Given the description of an element on the screen output the (x, y) to click on. 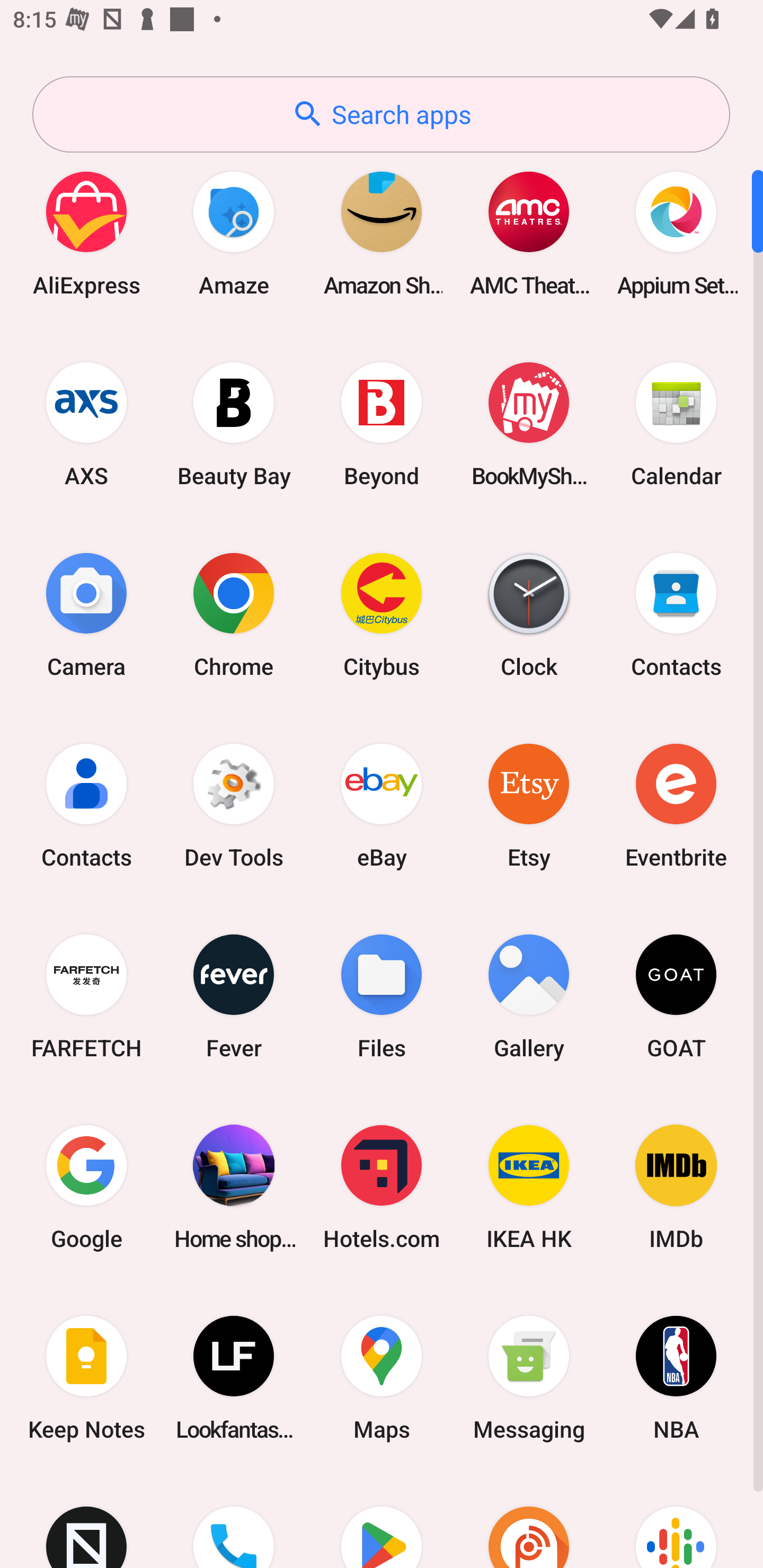
  Search apps (381, 114)
AliExpress (86, 233)
Amaze (233, 233)
Amazon Shopping (381, 233)
AMC Theatres (528, 233)
Appium Settings (676, 233)
AXS (86, 424)
Beauty Bay (233, 424)
Beyond (381, 424)
BookMyShow (528, 424)
Calendar (676, 424)
Camera (86, 614)
Chrome (233, 614)
Citybus (381, 614)
Clock (528, 614)
Contacts (676, 614)
Contacts (86, 805)
Dev Tools (233, 805)
eBay (381, 805)
Etsy (528, 805)
Eventbrite (676, 805)
FARFETCH (86, 996)
Fever (233, 996)
Files (381, 996)
Gallery (528, 996)
GOAT (676, 996)
Google (86, 1186)
Home shopping (233, 1186)
Hotels.com (381, 1186)
IKEA HK (528, 1186)
IMDb (676, 1186)
Keep Notes (86, 1377)
Lookfantastic (233, 1377)
Maps (381, 1377)
Messaging (528, 1377)
NBA (676, 1377)
Novelship (86, 1520)
Phone (233, 1520)
Play Store (381, 1520)
Podcast Addict (528, 1520)
Podcasts (676, 1520)
